Given the description of an element on the screen output the (x, y) to click on. 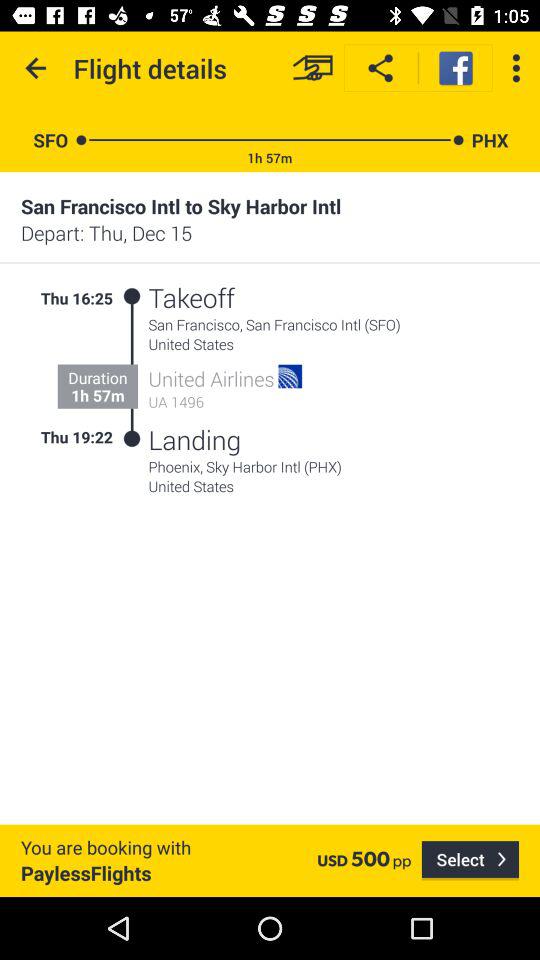
open phoenix sky harbor icon (333, 466)
